Given the description of an element on the screen output the (x, y) to click on. 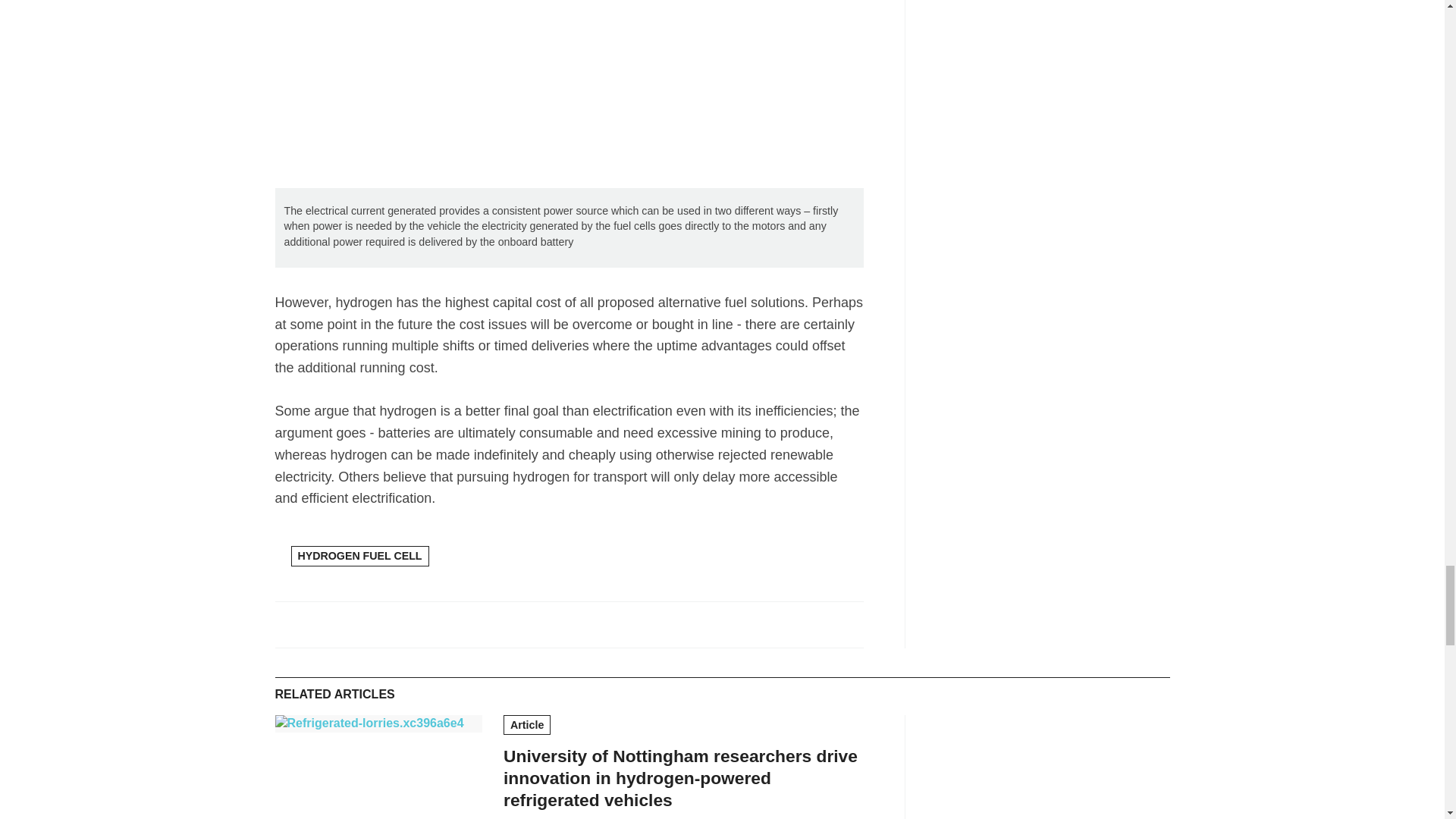
Email this article (391, 623)
Share this on Twitter (322, 623)
Share this on Linked in (356, 623)
Share this on Facebook (288, 623)
